Given the description of an element on the screen output the (x, y) to click on. 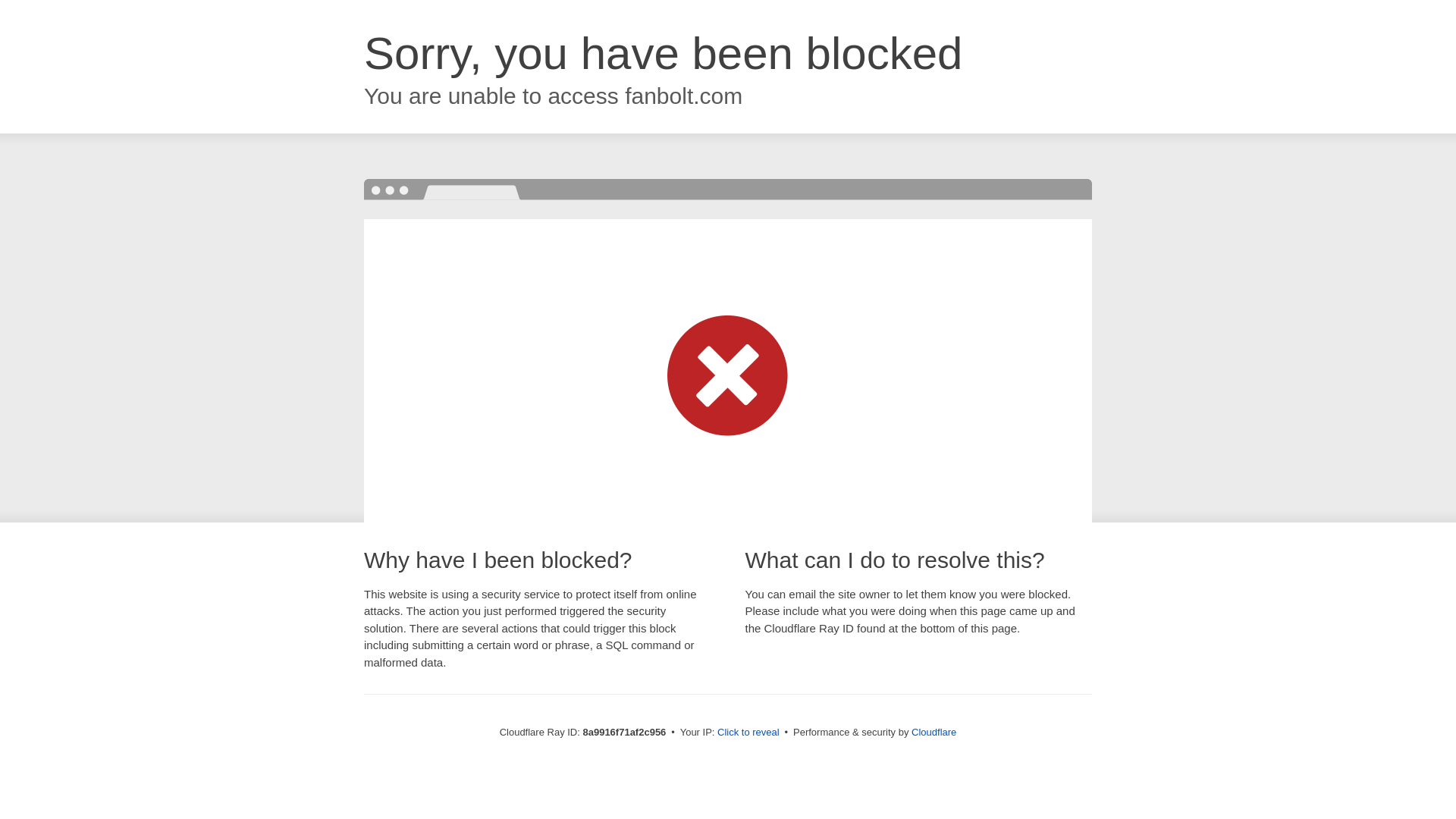
Cloudflare (933, 731)
Click to reveal (747, 732)
